Given the description of an element on the screen output the (x, y) to click on. 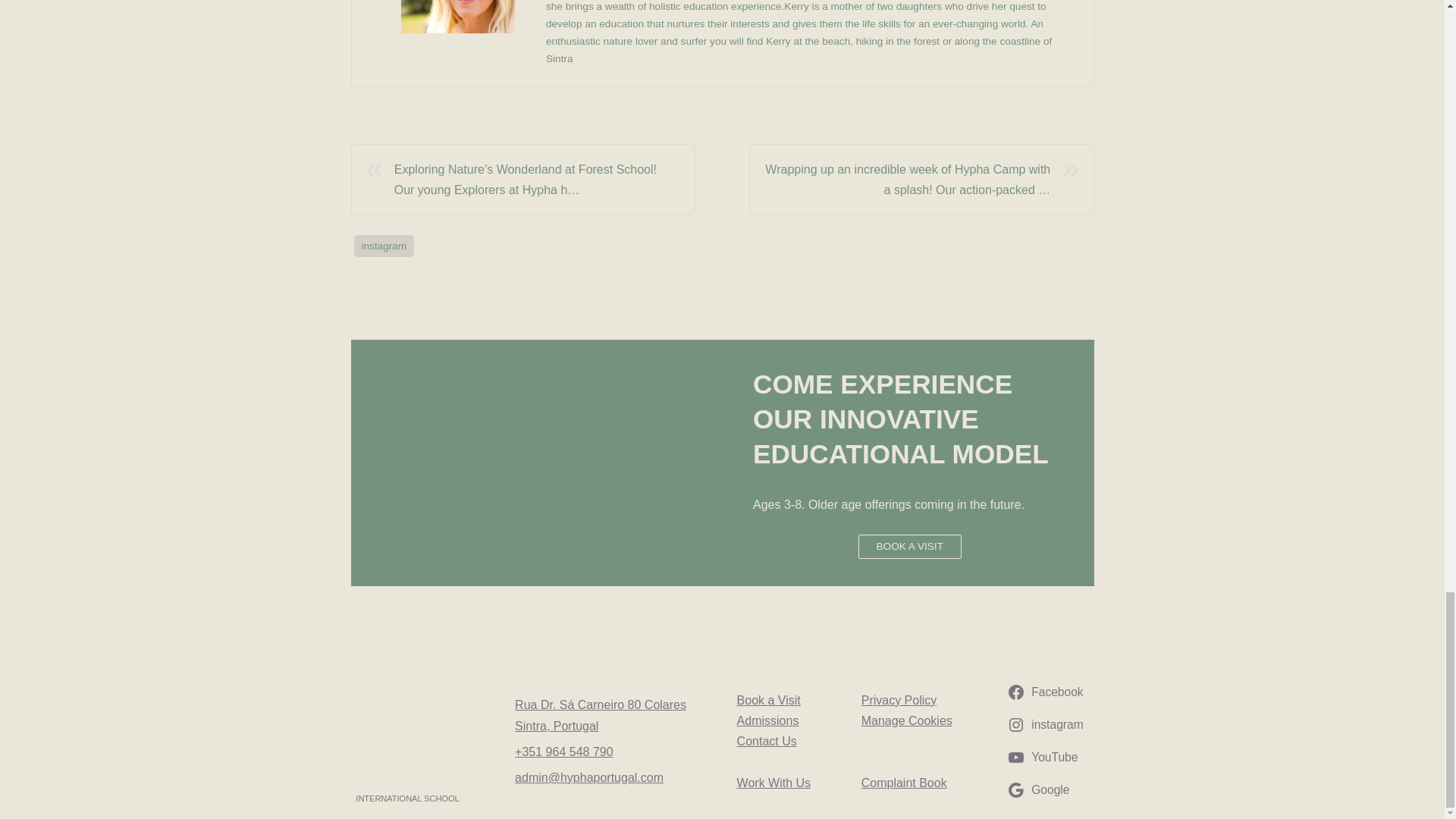
Sintra, Portugal (556, 725)
Book a Visit (768, 699)
BOOK A VISIT (909, 546)
instagram (383, 246)
